Given the description of an element on the screen output the (x, y) to click on. 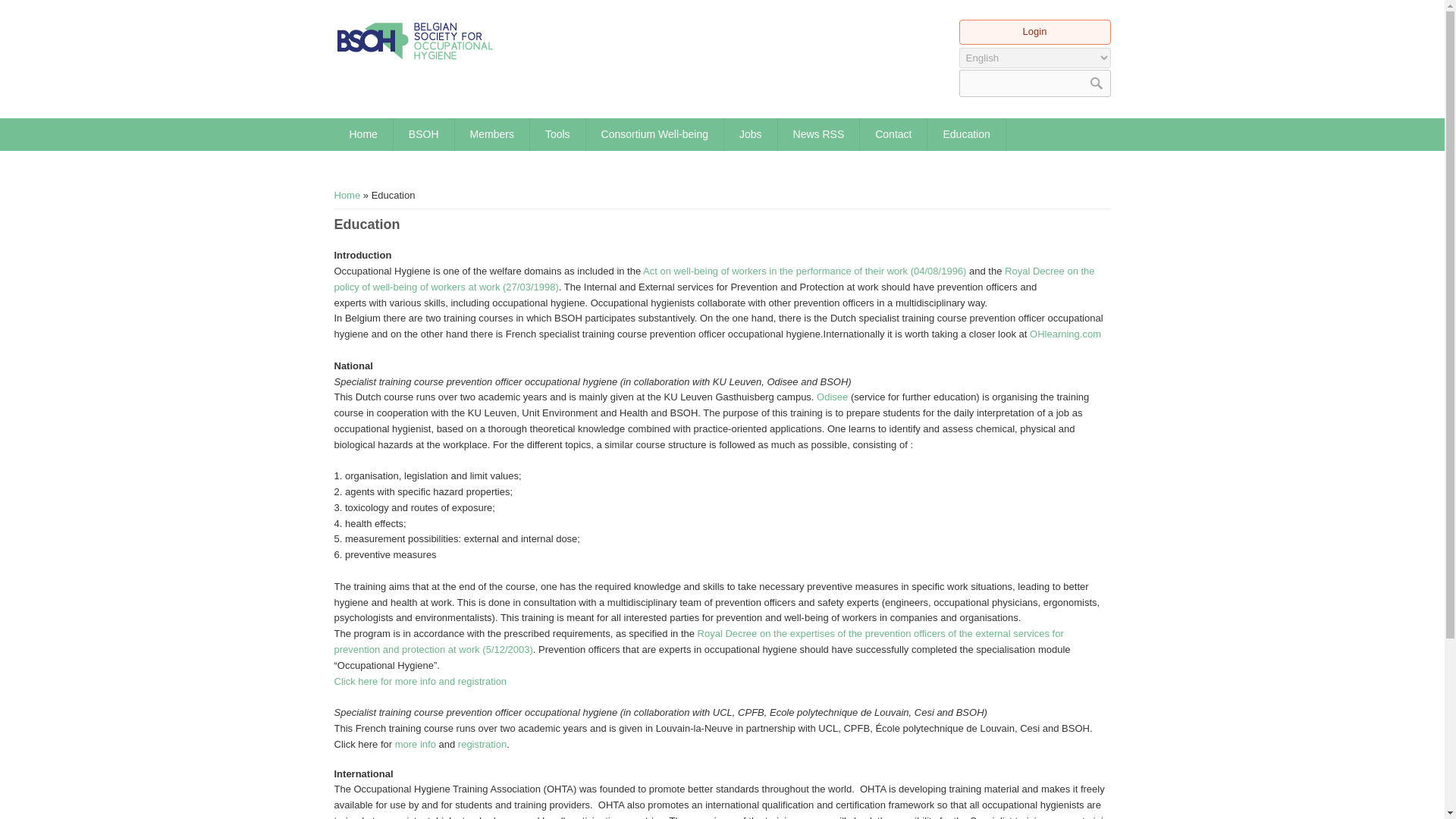
Home (362, 133)
Login (1034, 30)
Members (491, 133)
Enter the terms you wish to search for. (1033, 83)
Home (414, 41)
Search (1095, 83)
Tools (557, 133)
Search (1095, 83)
BSOH (423, 133)
